Given the description of an element on the screen output the (x, y) to click on. 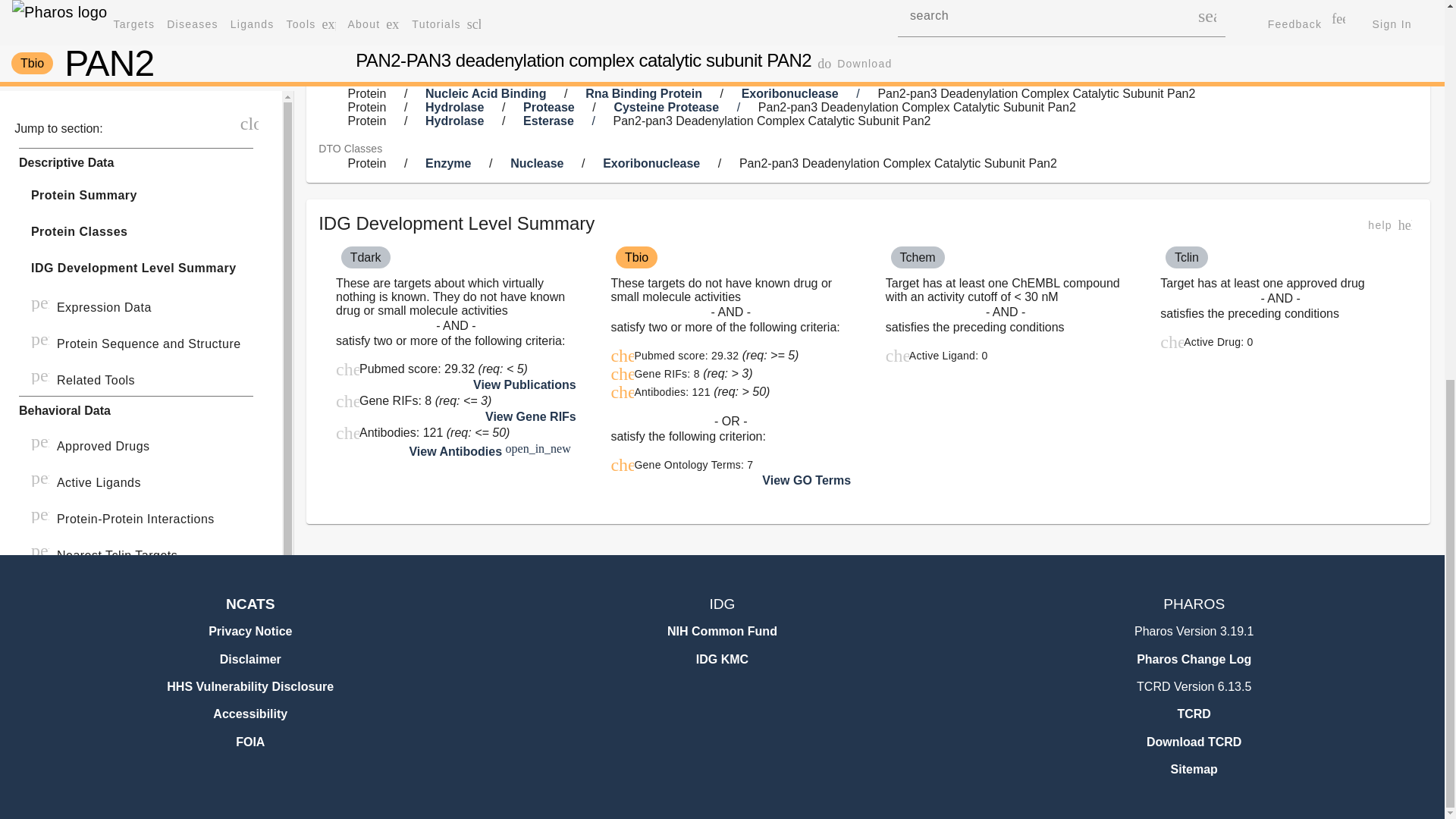
pendingGWAS Traits (135, 132)
pendingDisease Novelty (135, 95)
pendingRelated Targets (135, 168)
pendingDisease Associations (135, 59)
pendingGene Ontology Terms (135, 22)
